Given the description of an element on the screen output the (x, y) to click on. 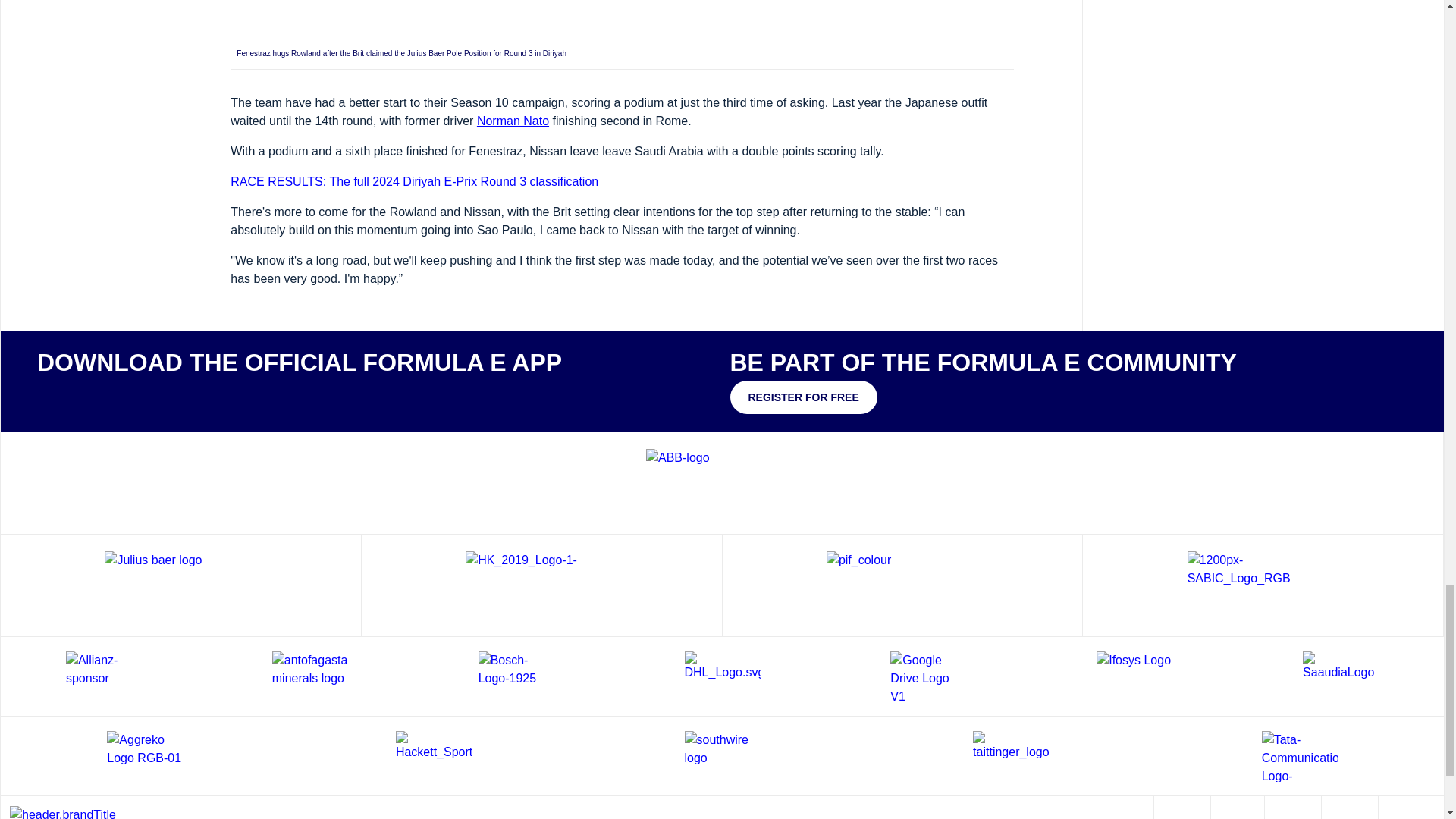
label.promo.apple.link (81, 394)
